Given the description of an element on the screen output the (x, y) to click on. 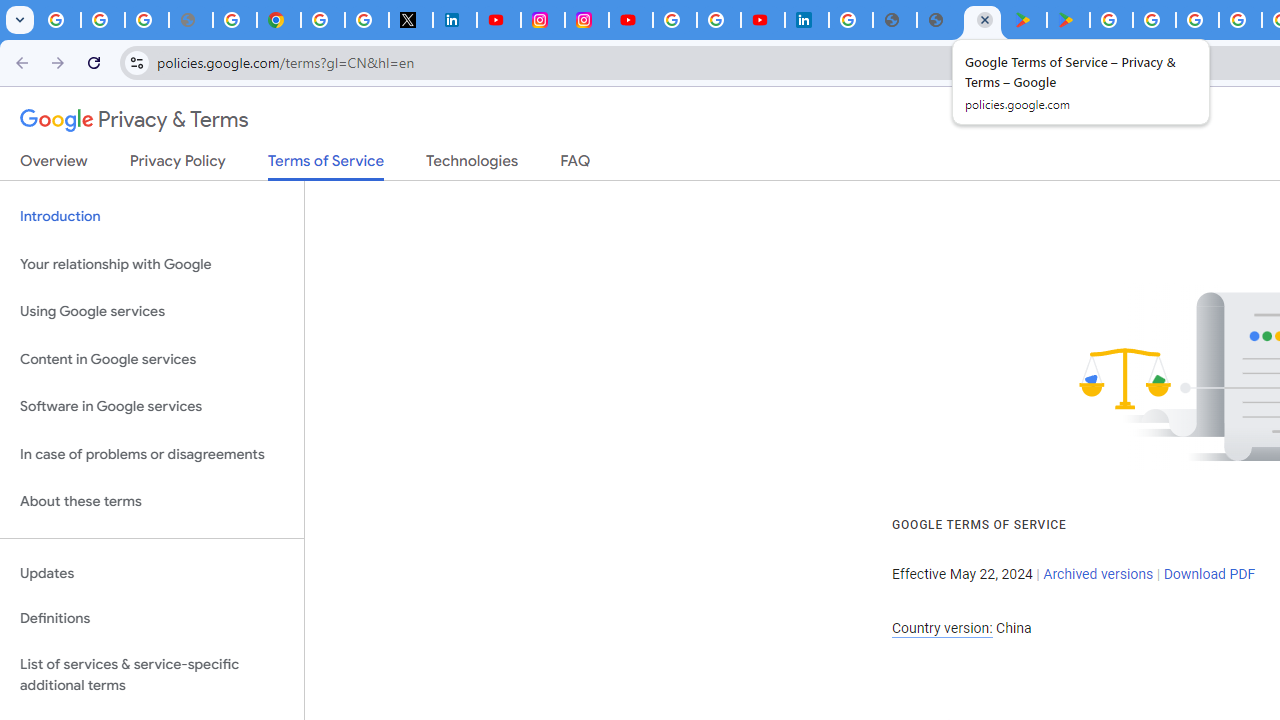
User Details (938, 20)
Technologies (472, 165)
List of services & service-specific additional terms (152, 674)
Close (984, 19)
PAW Patrol Rescue World - Apps on Google Play (1068, 20)
Privacy Policy (177, 165)
Google Workspace - Specific Terms (1240, 20)
View site information (136, 62)
Android Apps on Google Play (1025, 20)
Using Google services (152, 312)
Country version: (942, 628)
Content in Google services (152, 358)
Terms of Service (326, 166)
